Given the description of an element on the screen output the (x, y) to click on. 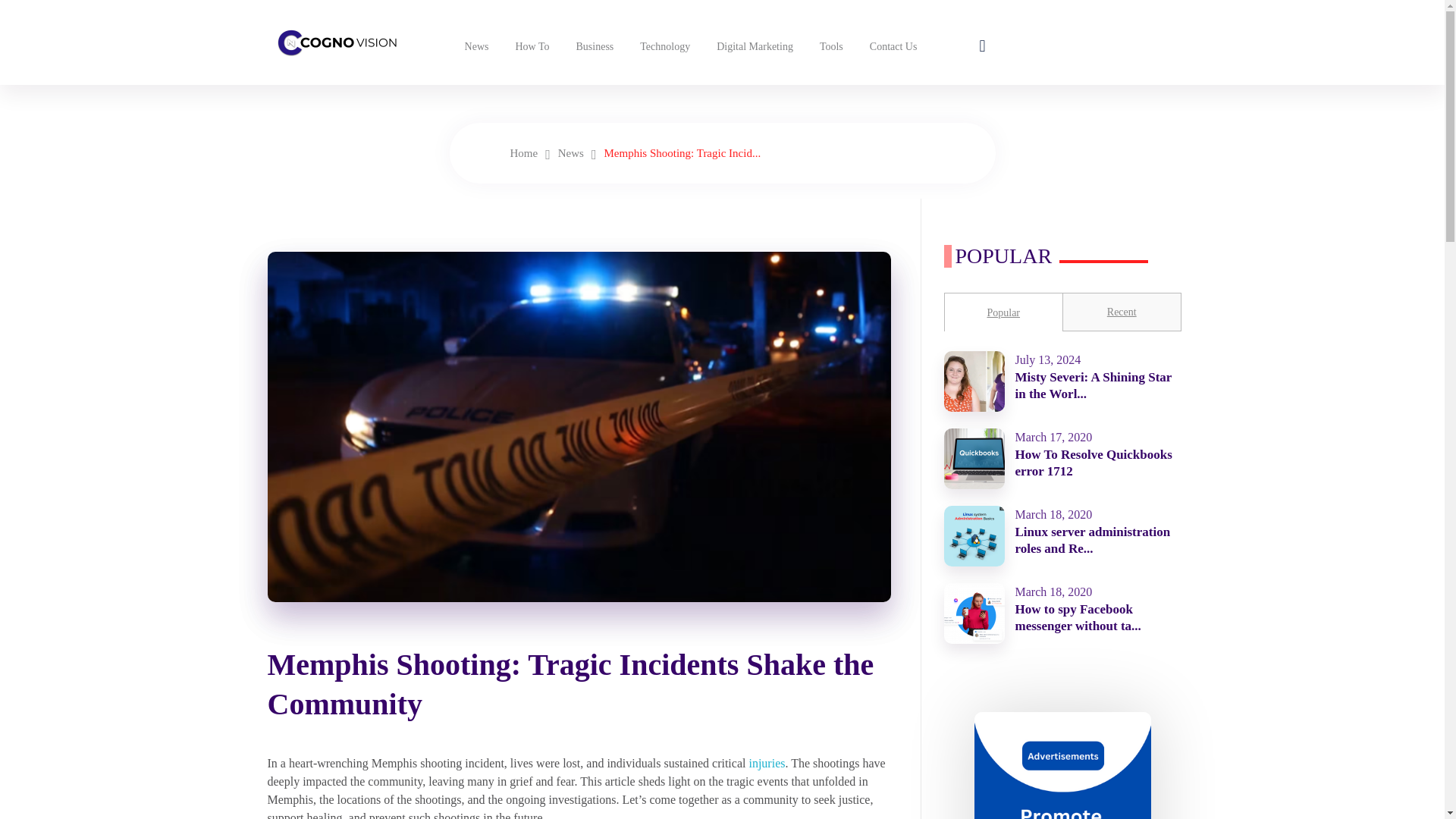
Digital Marketing (753, 46)
Cognovision : Daily Digital digest (399, 73)
Home (523, 152)
Cognovision : Daily Digital digest (335, 37)
How To Resolve Quickbooks error 1712 (1093, 462)
Popular (1003, 311)
How to spy Facebook messenger without ta... (1077, 617)
Business (593, 46)
Contact Us (891, 46)
News (570, 152)
Recent (1121, 311)
Technology (662, 46)
Linux server administration roles and Re... (1092, 540)
How To (529, 46)
injuries (766, 762)
